Given the description of an element on the screen output the (x, y) to click on. 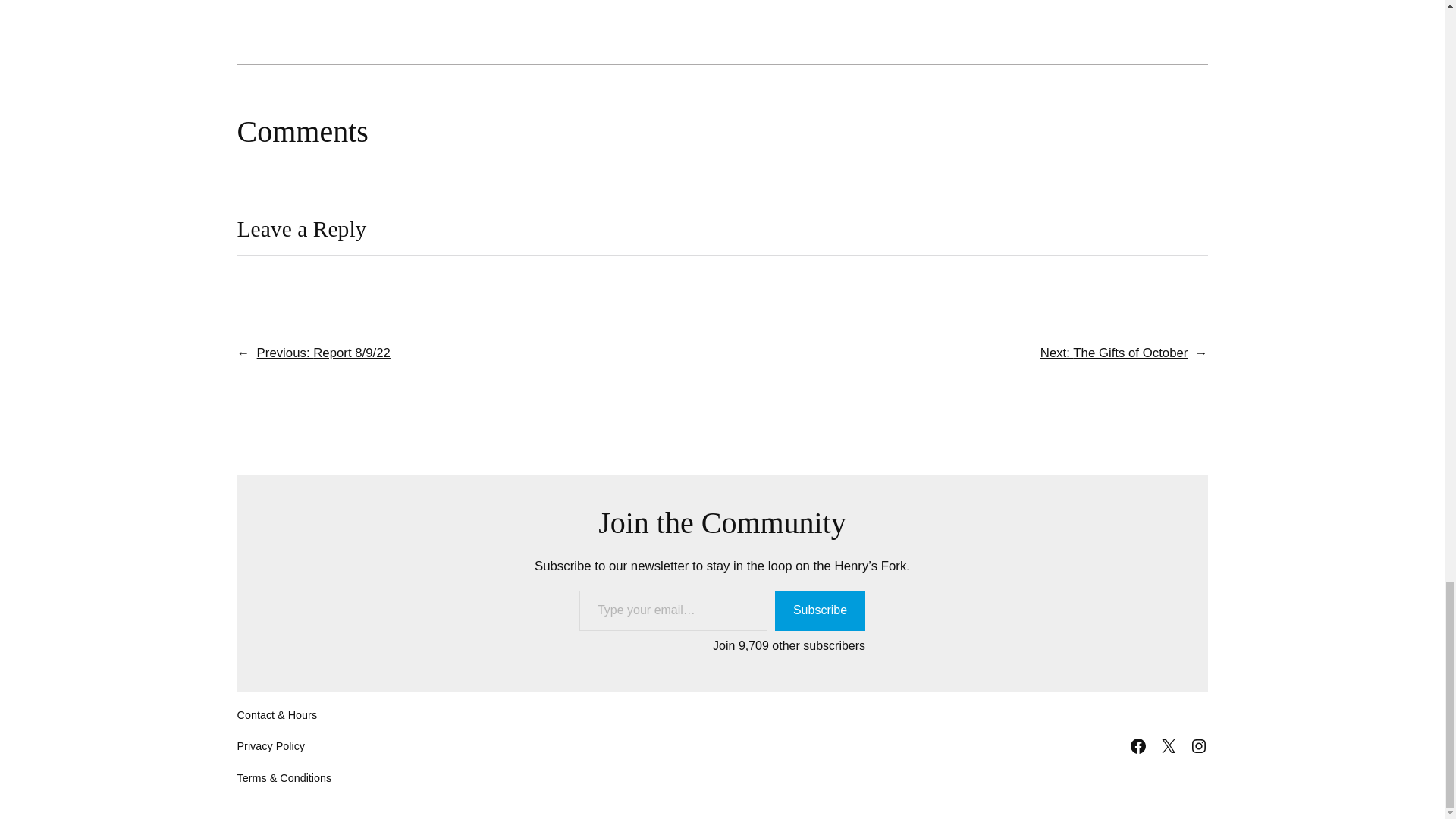
Please fill in this field. (673, 610)
